Given the description of an element on the screen output the (x, y) to click on. 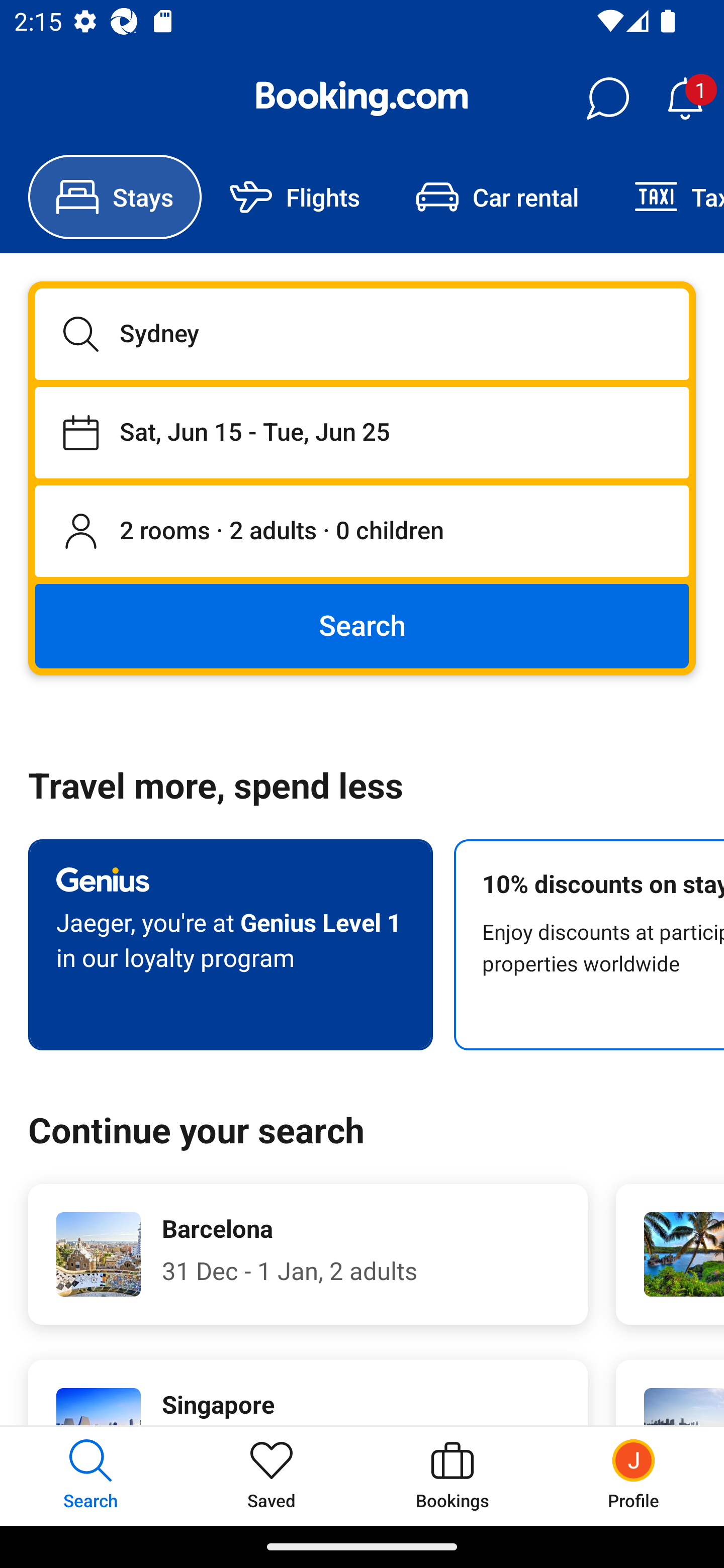
Messages (607, 98)
Notifications (685, 98)
Stays (114, 197)
Flights (294, 197)
Car rental (497, 197)
Taxi (665, 197)
Sydney (361, 333)
Staying from Sat, Jun 15 until Tue, Jun 25 (361, 432)
2 rooms, 2 adults, 0 children (361, 531)
Search (361, 625)
Barcelona 31 Dec - 1 Jan, 2 adults (307, 1253)
Saved (271, 1475)
Bookings (452, 1475)
Profile (633, 1475)
